Given the description of an element on the screen output the (x, y) to click on. 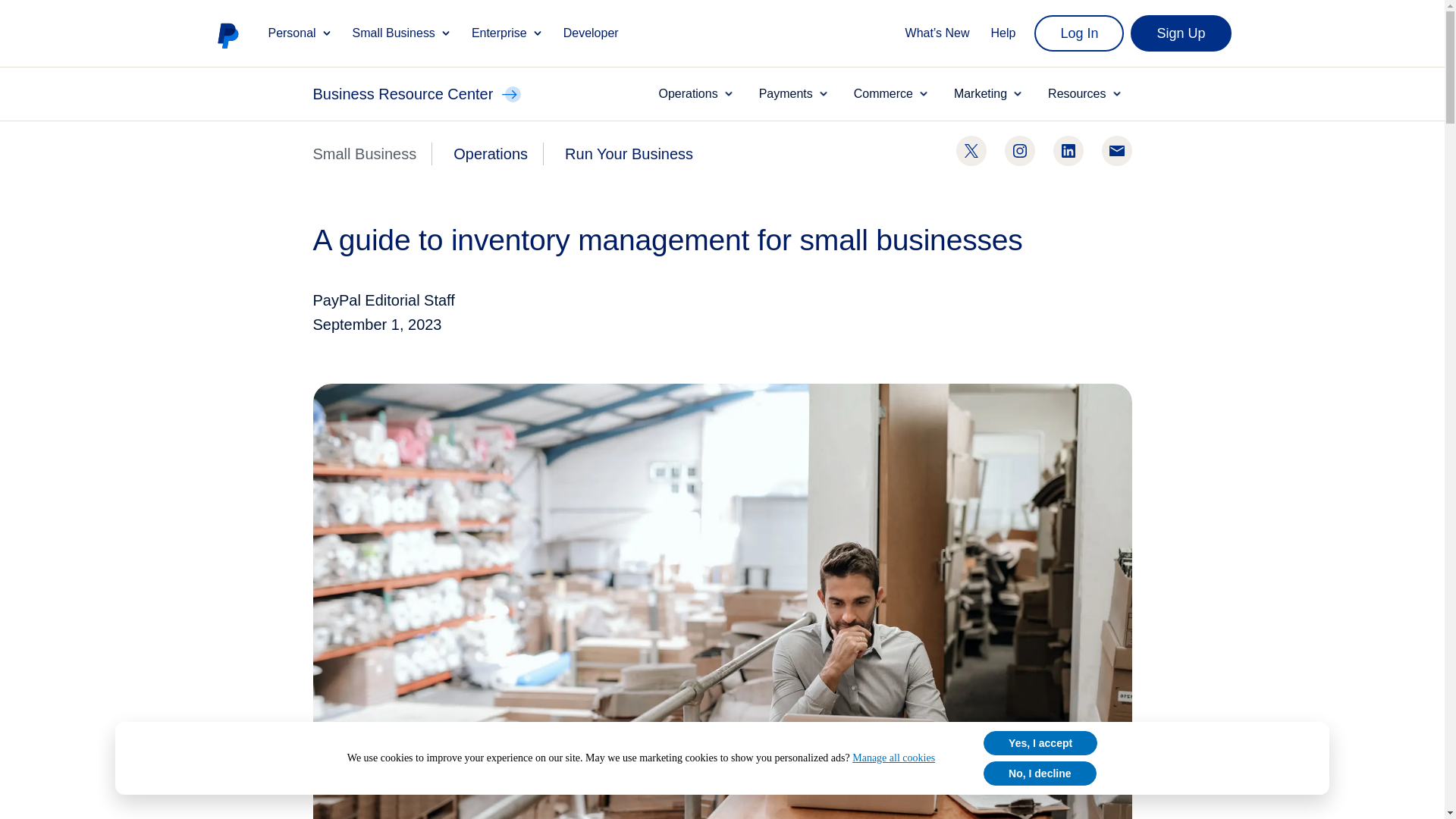
PayPal logo (227, 34)
Small Business (401, 33)
Personal (299, 33)
